Given the description of an element on the screen output the (x, y) to click on. 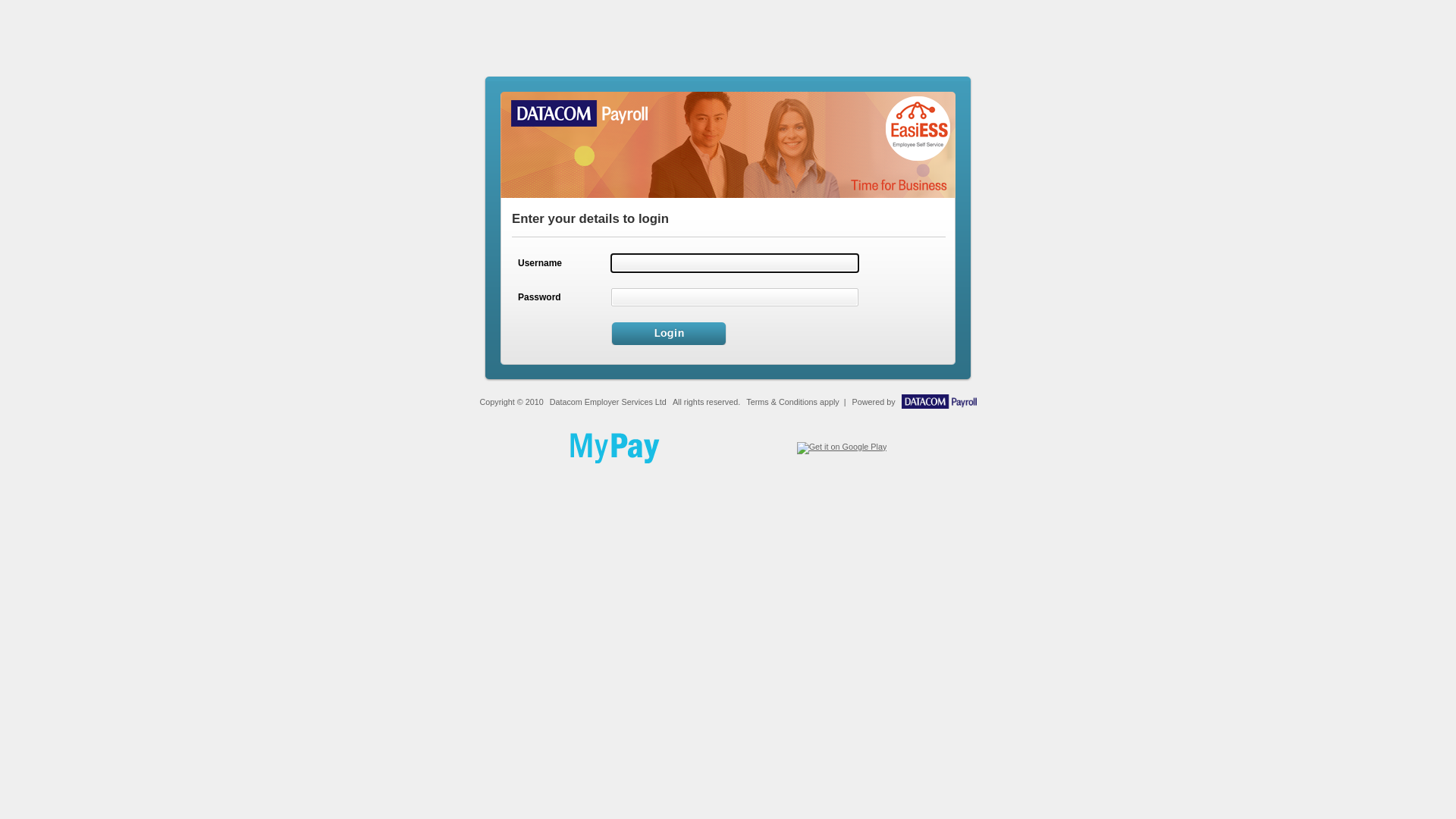
Datacom Payroll Element type: hover (938, 405)
